Given the description of an element on the screen output the (x, y) to click on. 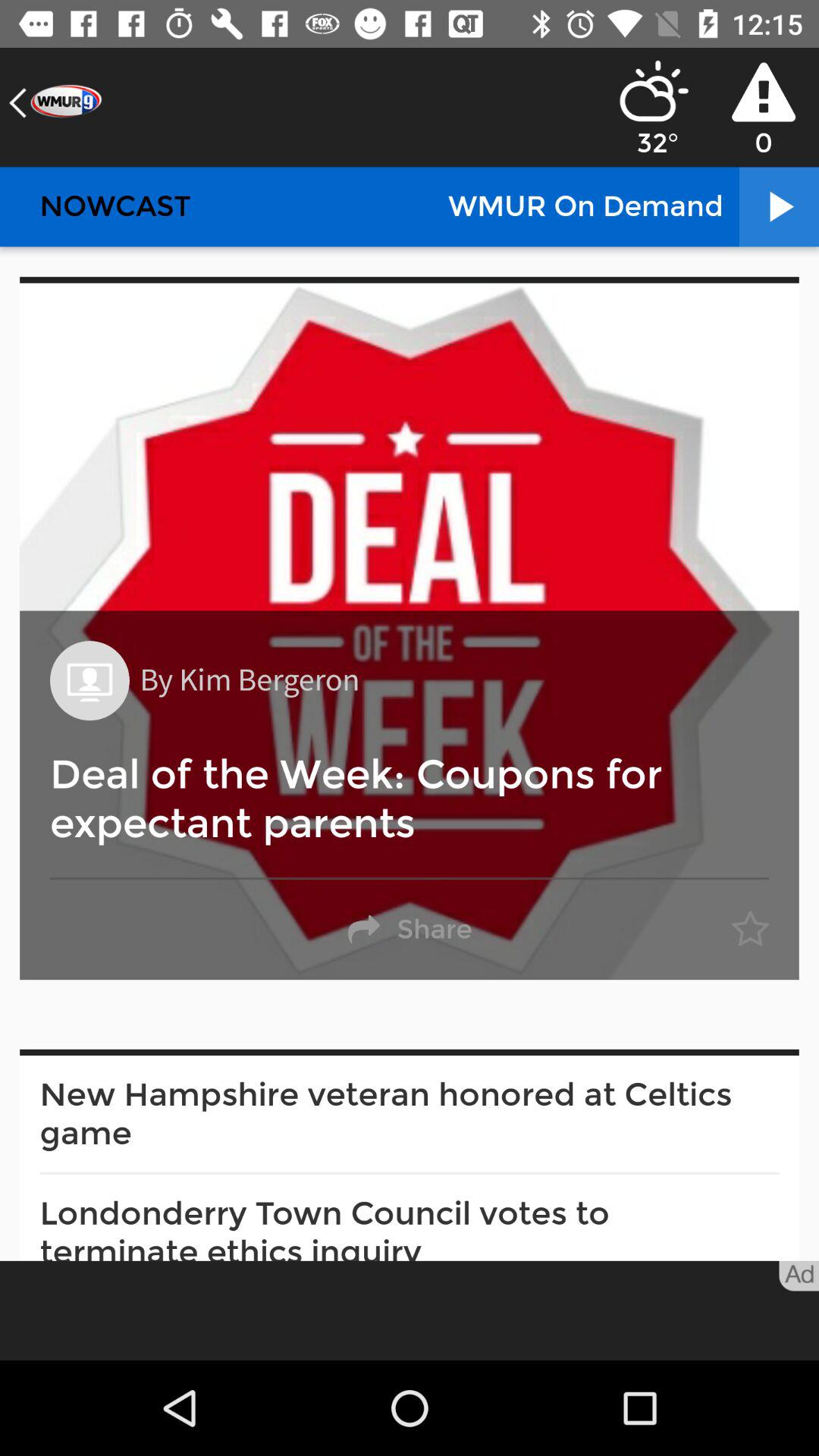
tap icon next to by kim bergeron (89, 680)
